Given the description of an element on the screen output the (x, y) to click on. 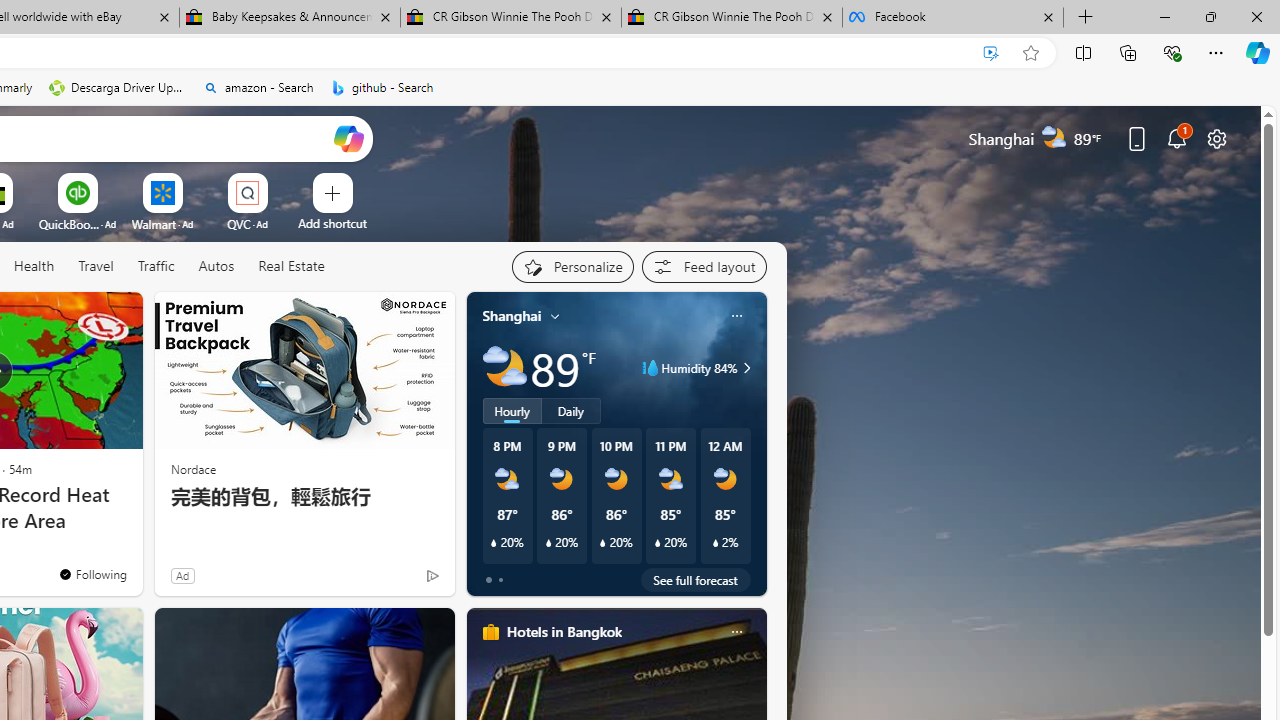
Facebook (953, 17)
Close tab (1048, 16)
Feed settings (703, 266)
Settings and more (Alt+F) (1215, 52)
Class: icon-img (736, 632)
Hotels in Bangkok (563, 631)
Class: weather-arrow-glyph (746, 367)
Humidity 84% (744, 367)
Minimize (1164, 16)
Add a site (332, 223)
Open Copilot (347, 138)
Traffic (155, 267)
